Given the description of an element on the screen output the (x, y) to click on. 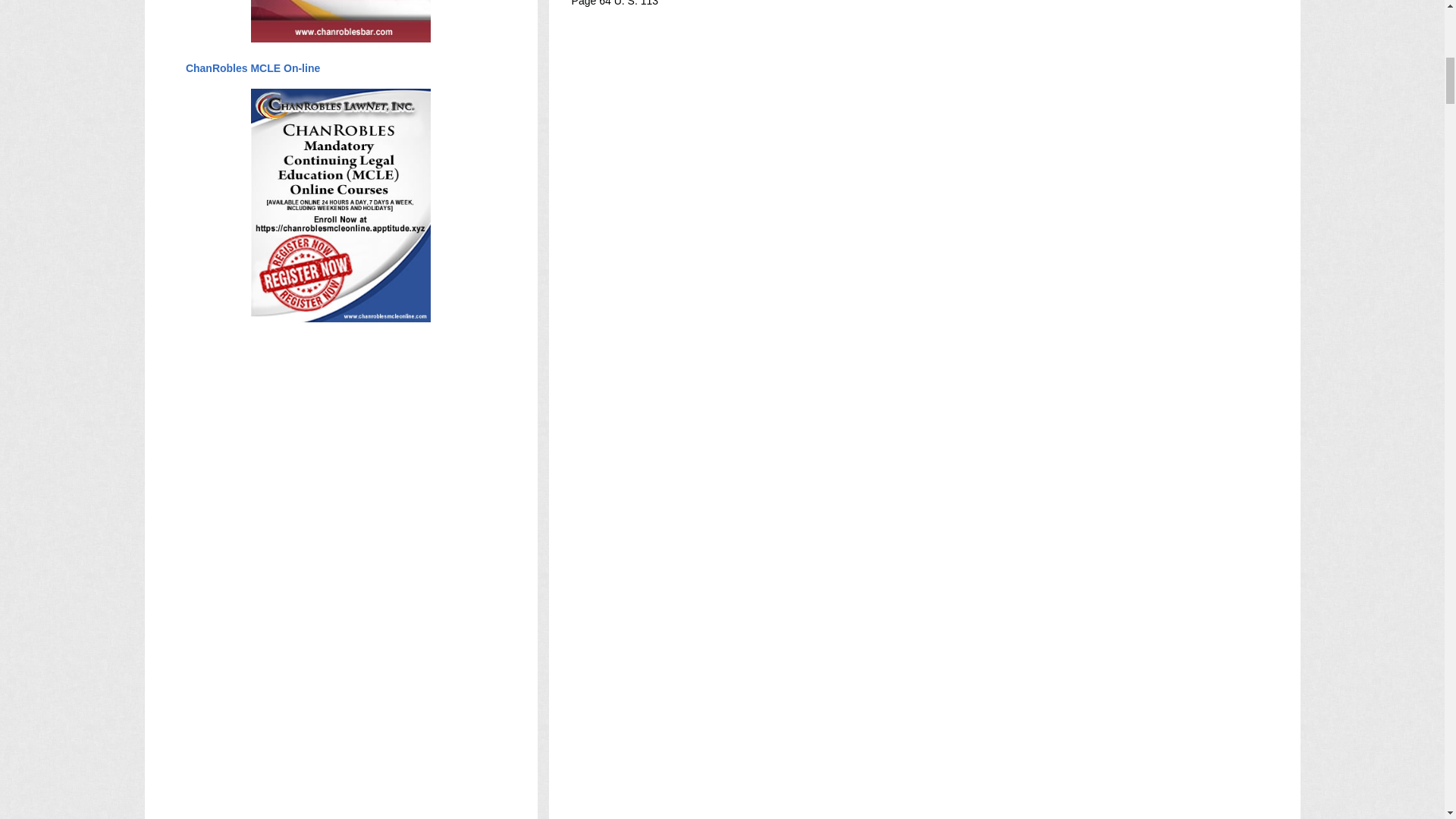
Advertisement (848, 111)
Advertisement (848, 410)
Page 64 U. S. 113 (615, 3)
Advertisement (848, 336)
Advertisement (848, 224)
Advertisement (848, 559)
Advertisement (848, 485)
Advertisement (848, 633)
Advertisement (848, 708)
ChanRobles MCLE On-line (252, 68)
Advertisement (848, 793)
